Given the description of an element on the screen output the (x, y) to click on. 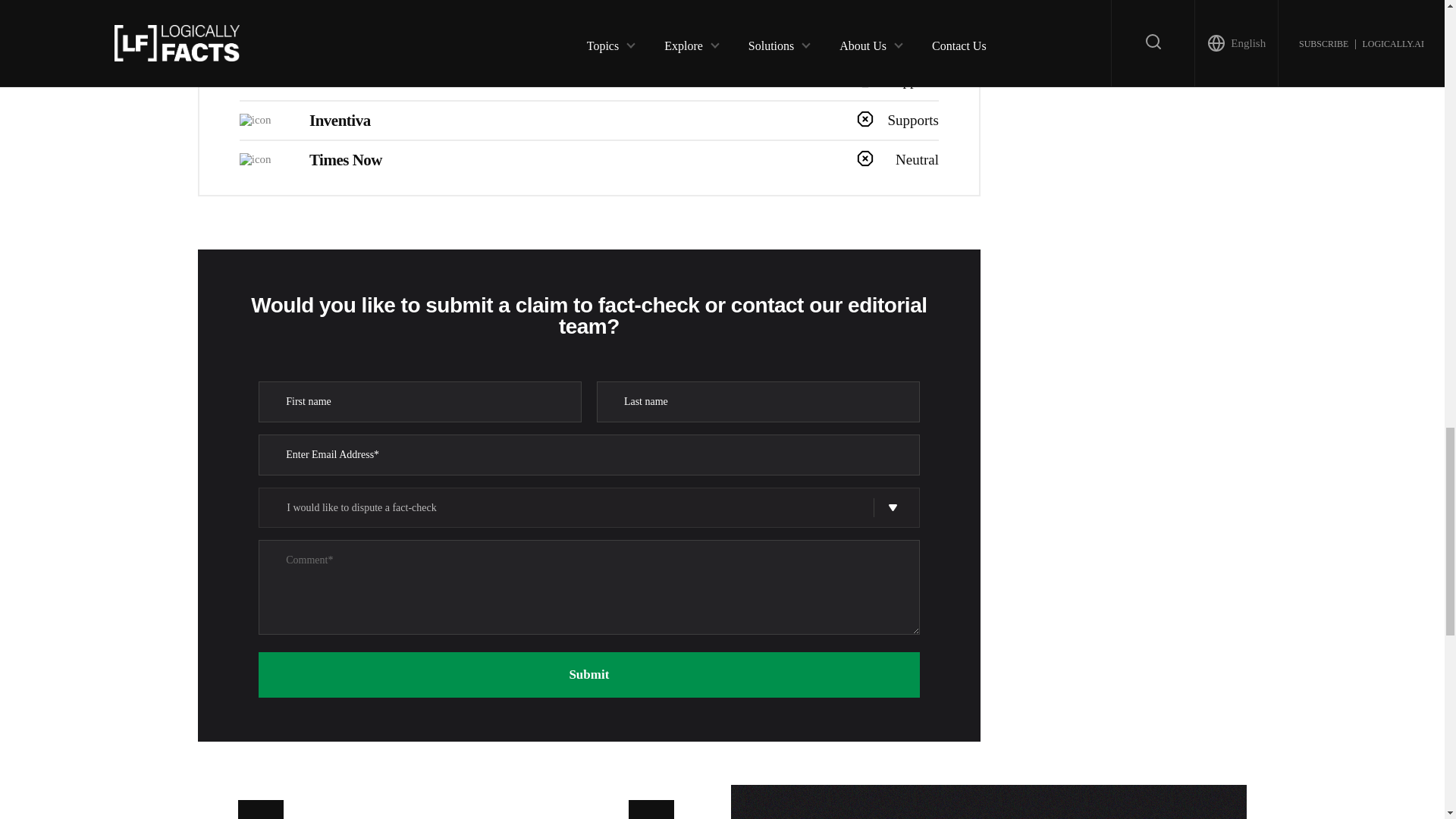
Submit (588, 674)
Times of India (355, 40)
